Given the description of an element on the screen output the (x, y) to click on. 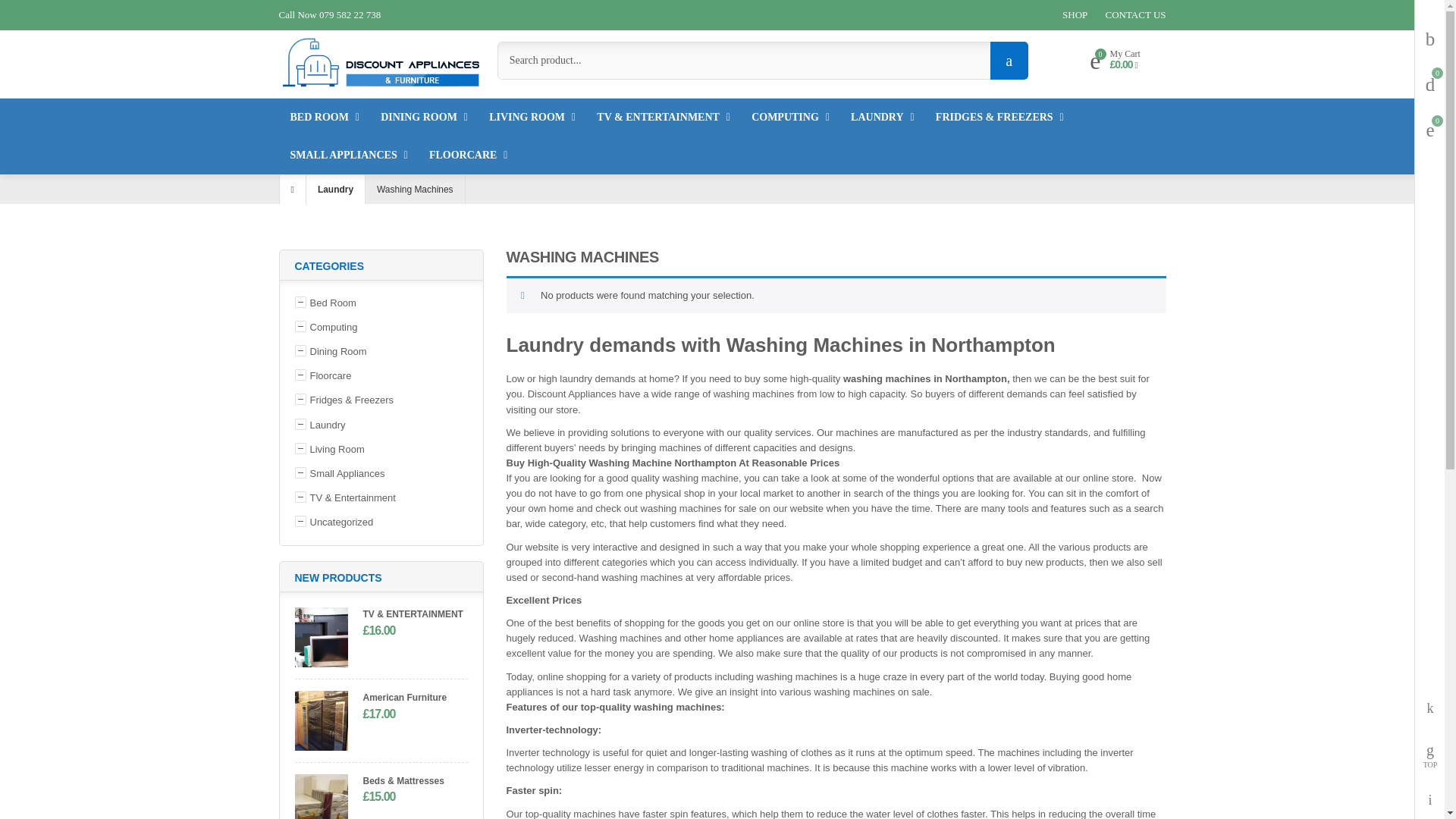
DINING ROOM (418, 117)
Search (1008, 60)
LIVING ROOM (526, 117)
CONTACT US (1135, 14)
BED ROOM (318, 117)
